Given the description of an element on the screen output the (x, y) to click on. 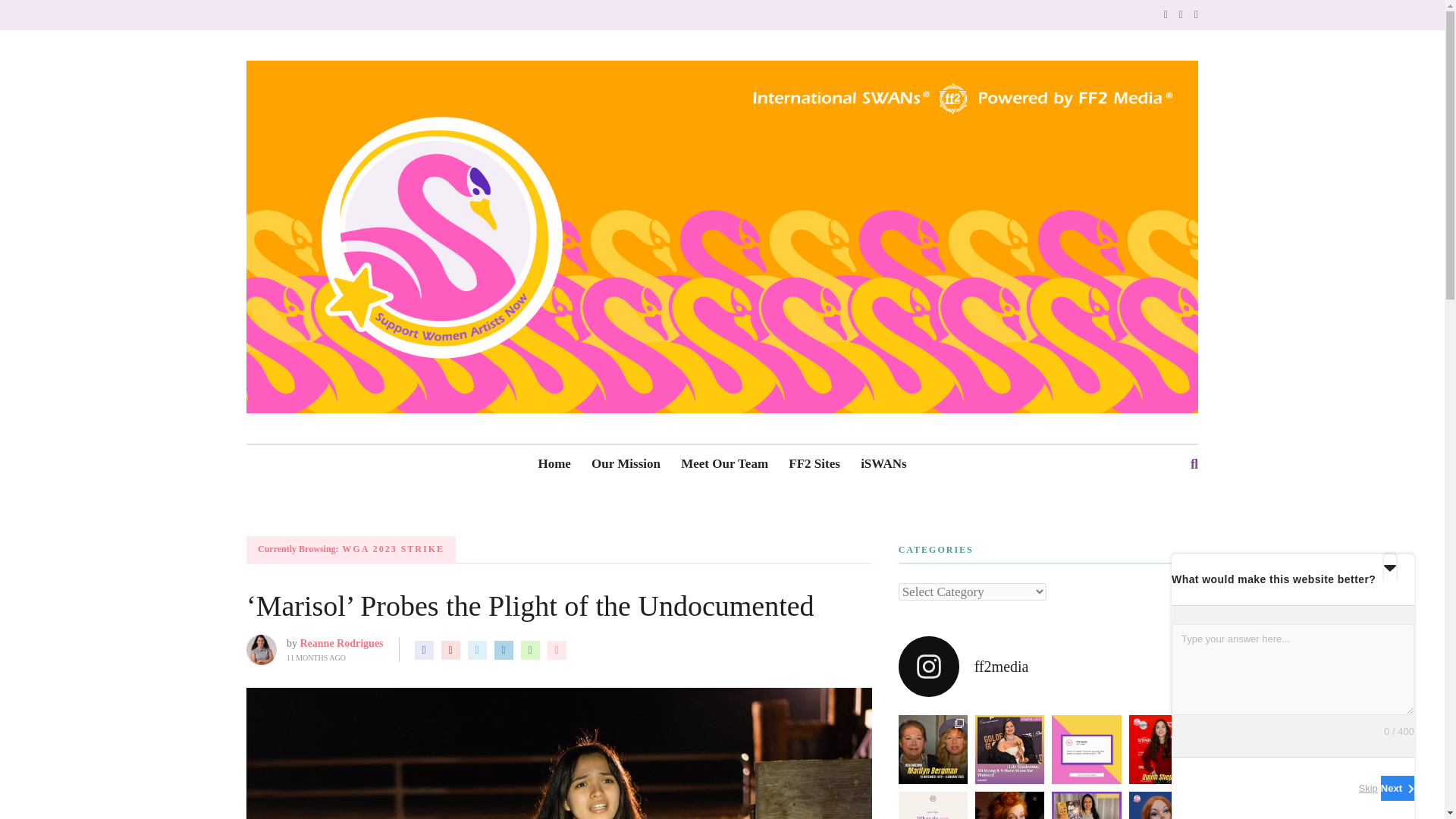
Our Mission (626, 464)
ff2media (1048, 666)
FF2 Sites (814, 464)
Meet Our Team (724, 464)
Posts by Reanne Rodrigues (341, 643)
Reanne Rodrigues (341, 643)
iSWANs (882, 464)
